Given the description of an element on the screen output the (x, y) to click on. 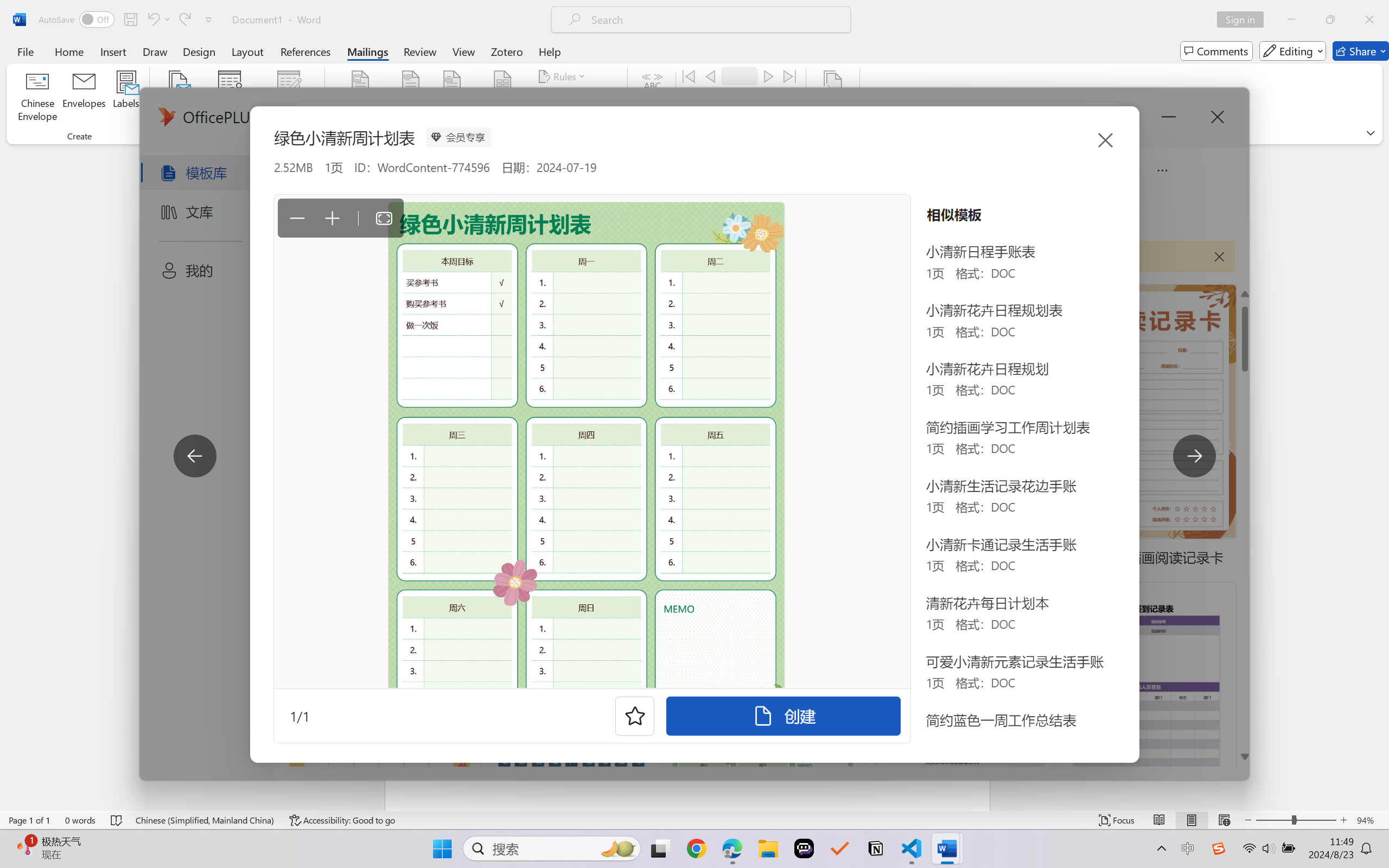
Editing (1292, 50)
Undo Apply Quick Style Set (152, 19)
